Given the description of an element on the screen output the (x, y) to click on. 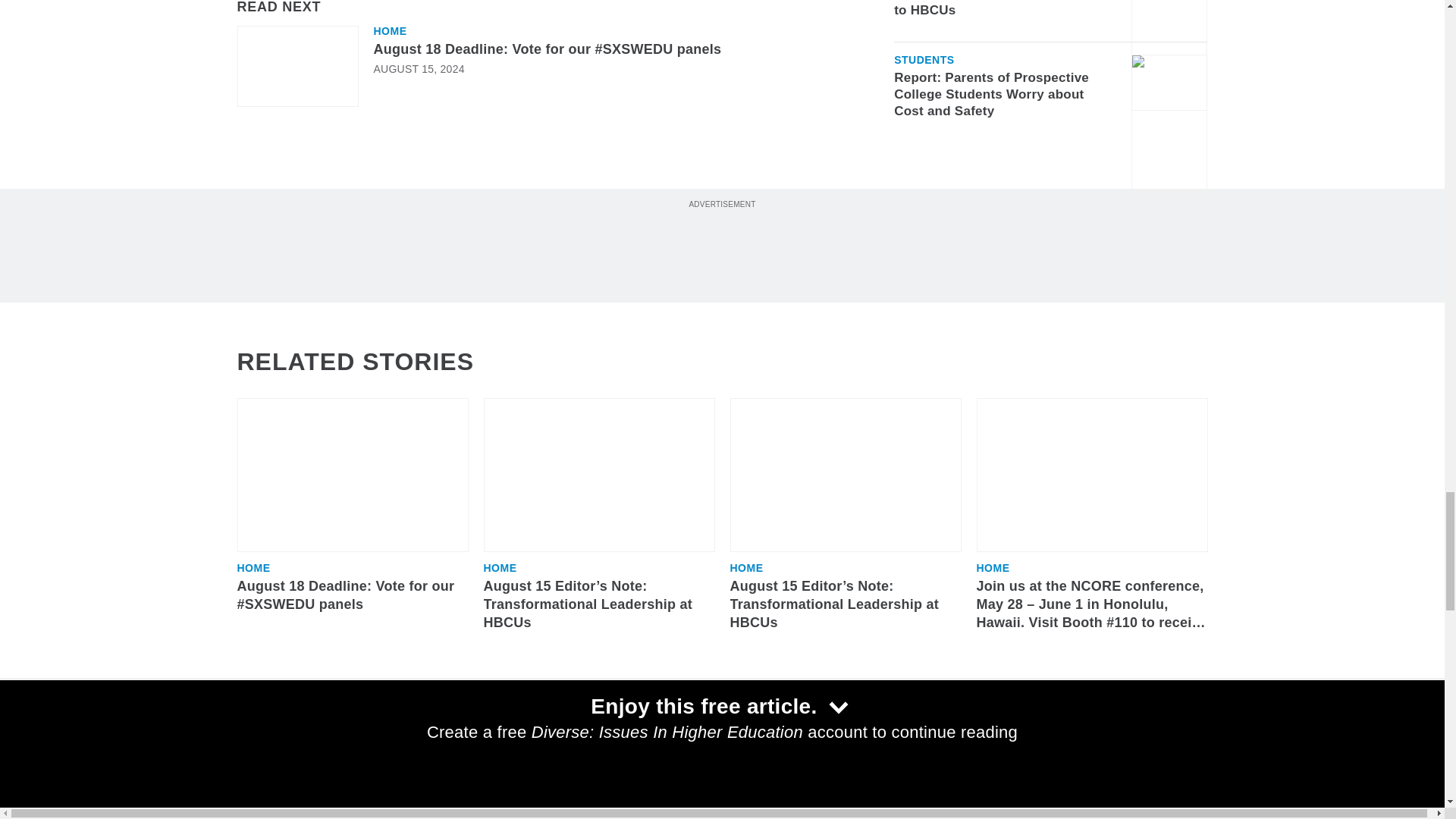
Home (389, 30)
Home (745, 567)
Home (499, 567)
Home (252, 567)
